Given the description of an element on the screen output the (x, y) to click on. 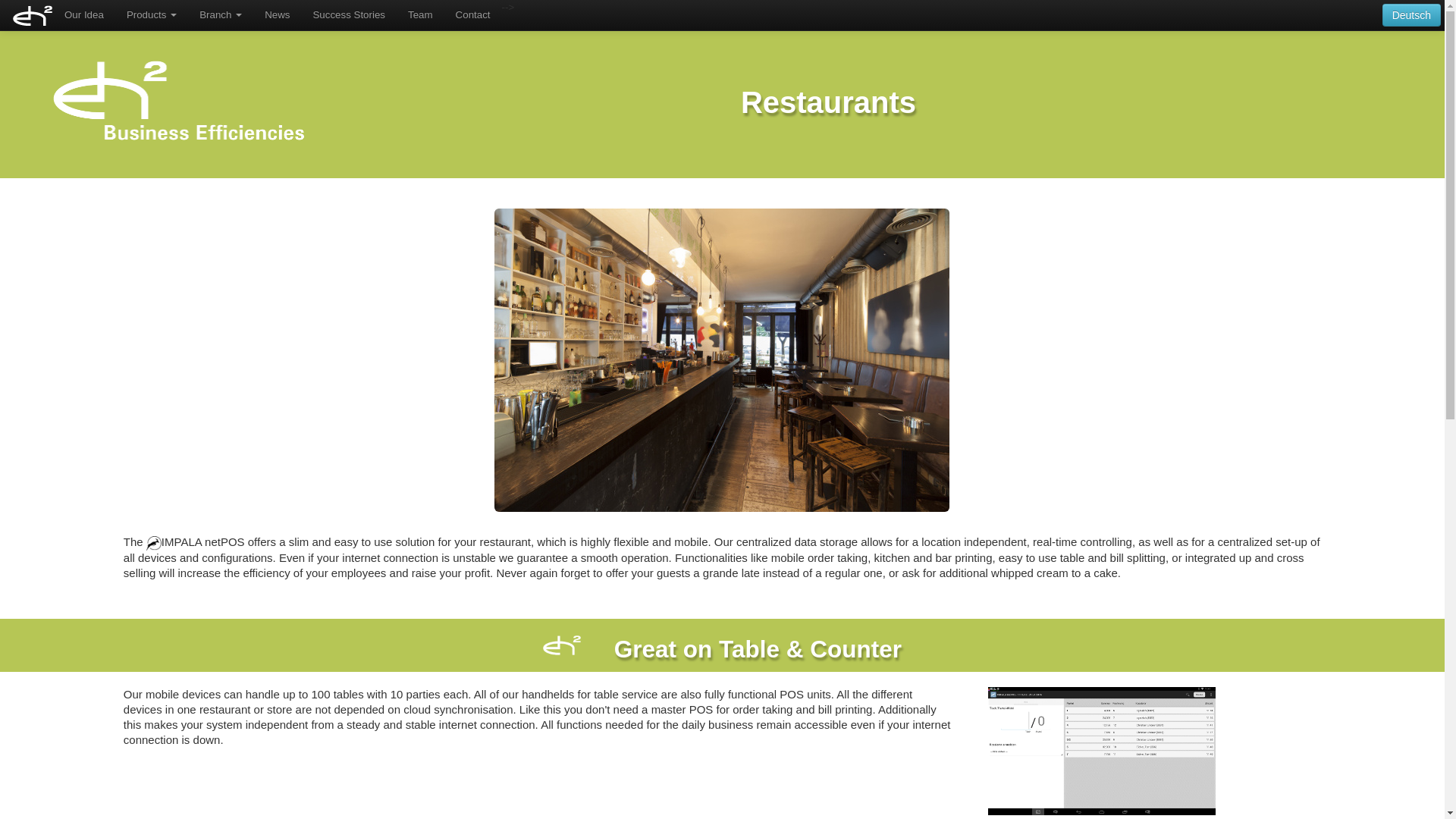
Contact (473, 15)
News (277, 15)
Our Idea (83, 15)
Products (151, 15)
Deutsch (1411, 15)
Team (420, 15)
Success Stories (348, 15)
Branch (220, 15)
